Given the description of an element on the screen output the (x, y) to click on. 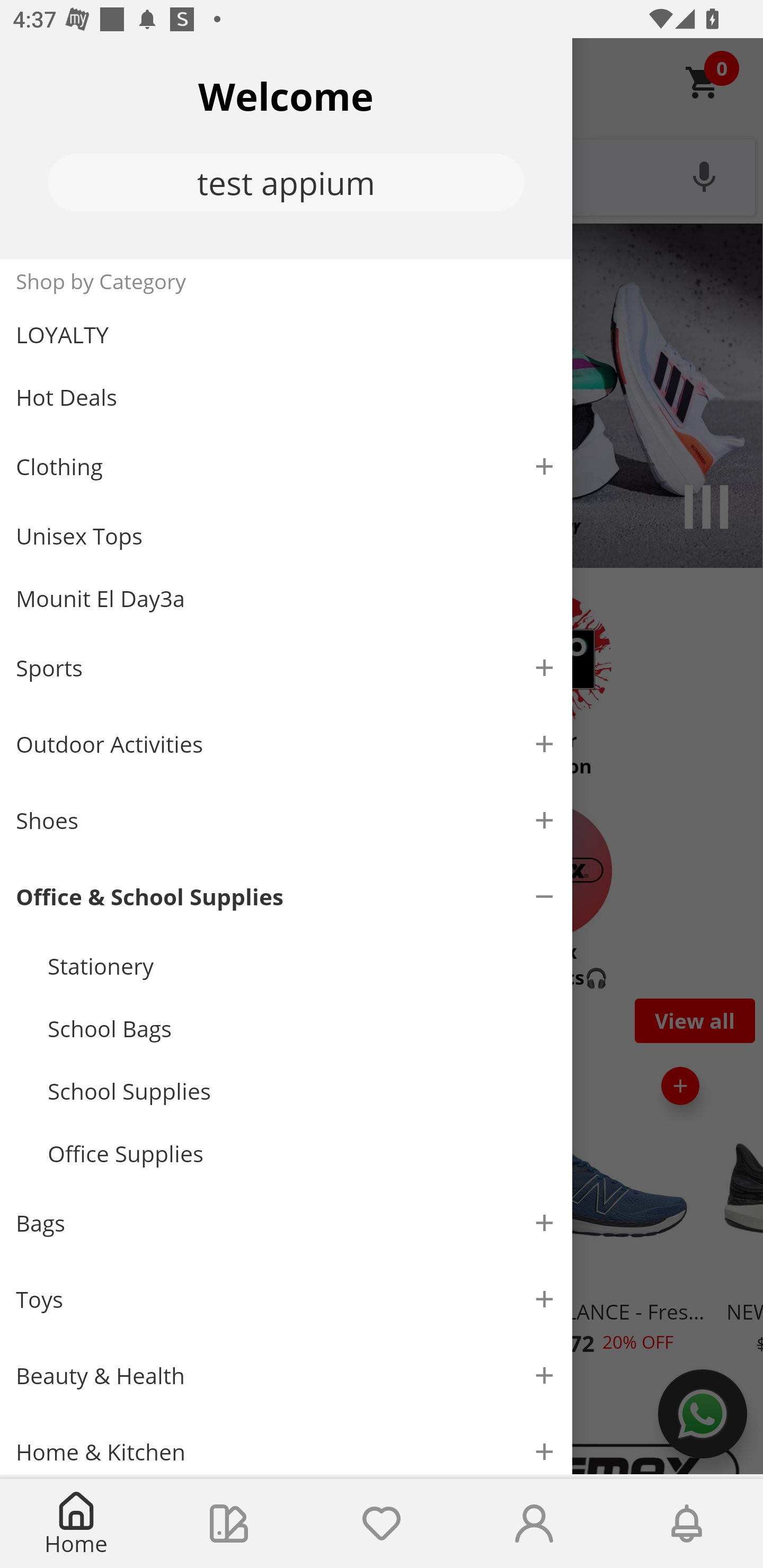
Welcome test appium (286, 147)
Search For Products (381, 175)
LOYALTY (286, 334)
Hot Deals (286, 396)
Clothing (286, 466)
Unisex Tops (286, 535)
Mounit El Day3a (286, 598)
Sports (286, 667)
Outdoor Activities (286, 743)
Shoes (286, 820)
Stationery (302, 965)
School Bags (302, 1028)
School Supplies (302, 1090)
Office Supplies (302, 1153)
Bags (286, 1222)
Toys (286, 1298)
Beauty & Health (286, 1375)
Home & Kitchen (286, 1443)
Collections (228, 1523)
Wishlist (381, 1523)
My Account (533, 1523)
Notifications (686, 1523)
